Given the description of an element on the screen output the (x, y) to click on. 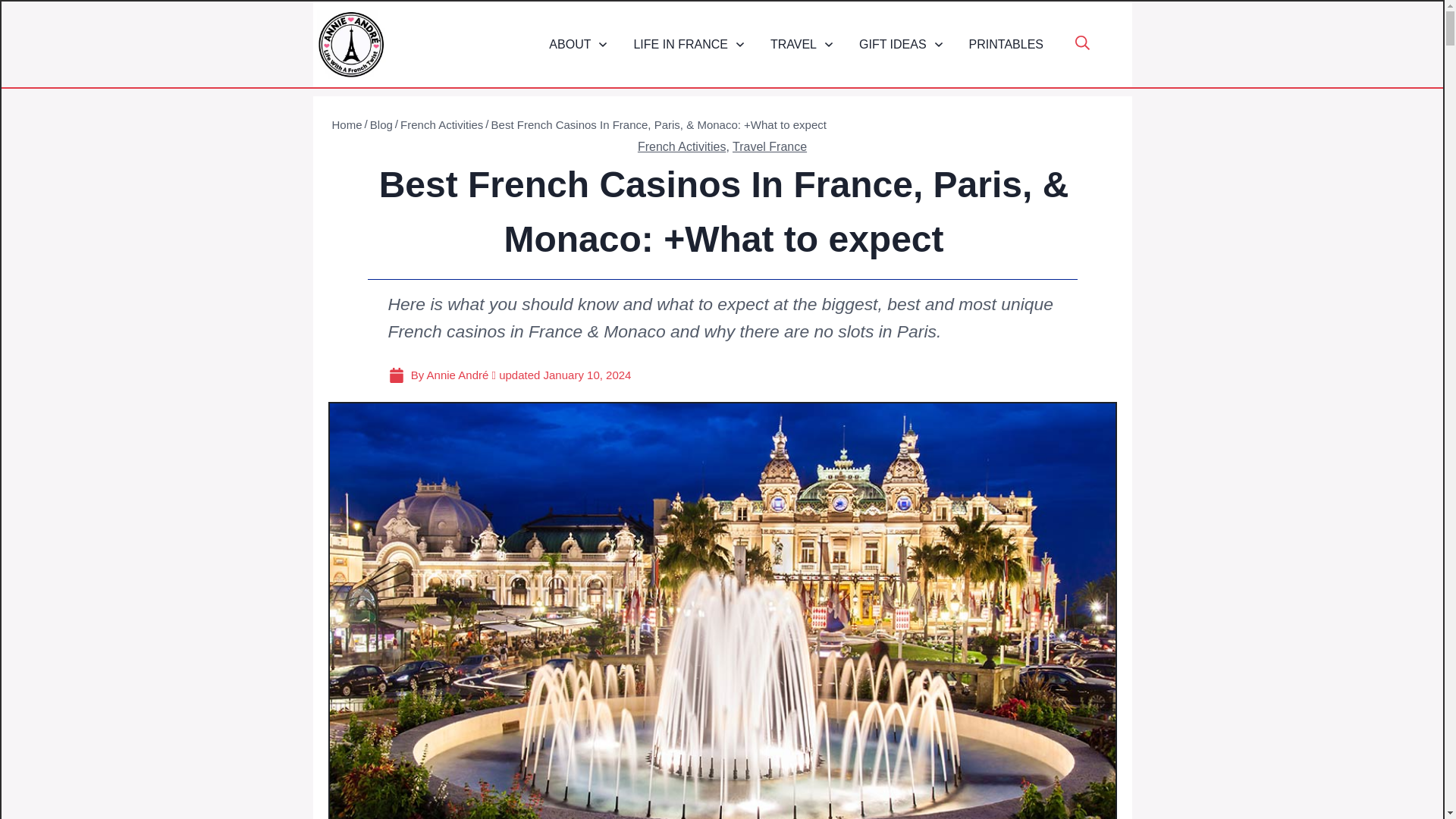
Blog (381, 124)
ABOUT (578, 44)
Travel France (769, 146)
Life, Culture and Traditions in France (689, 44)
LIFE IN FRANCE (689, 44)
PRINTABLES (1006, 44)
About this blog, our family and what this blog is about (578, 44)
TRAVEL (802, 44)
French Activities (681, 146)
Home (346, 124)
French Activities (441, 124)
GIFT IDEAS (901, 44)
